Given the description of an element on the screen output the (x, y) to click on. 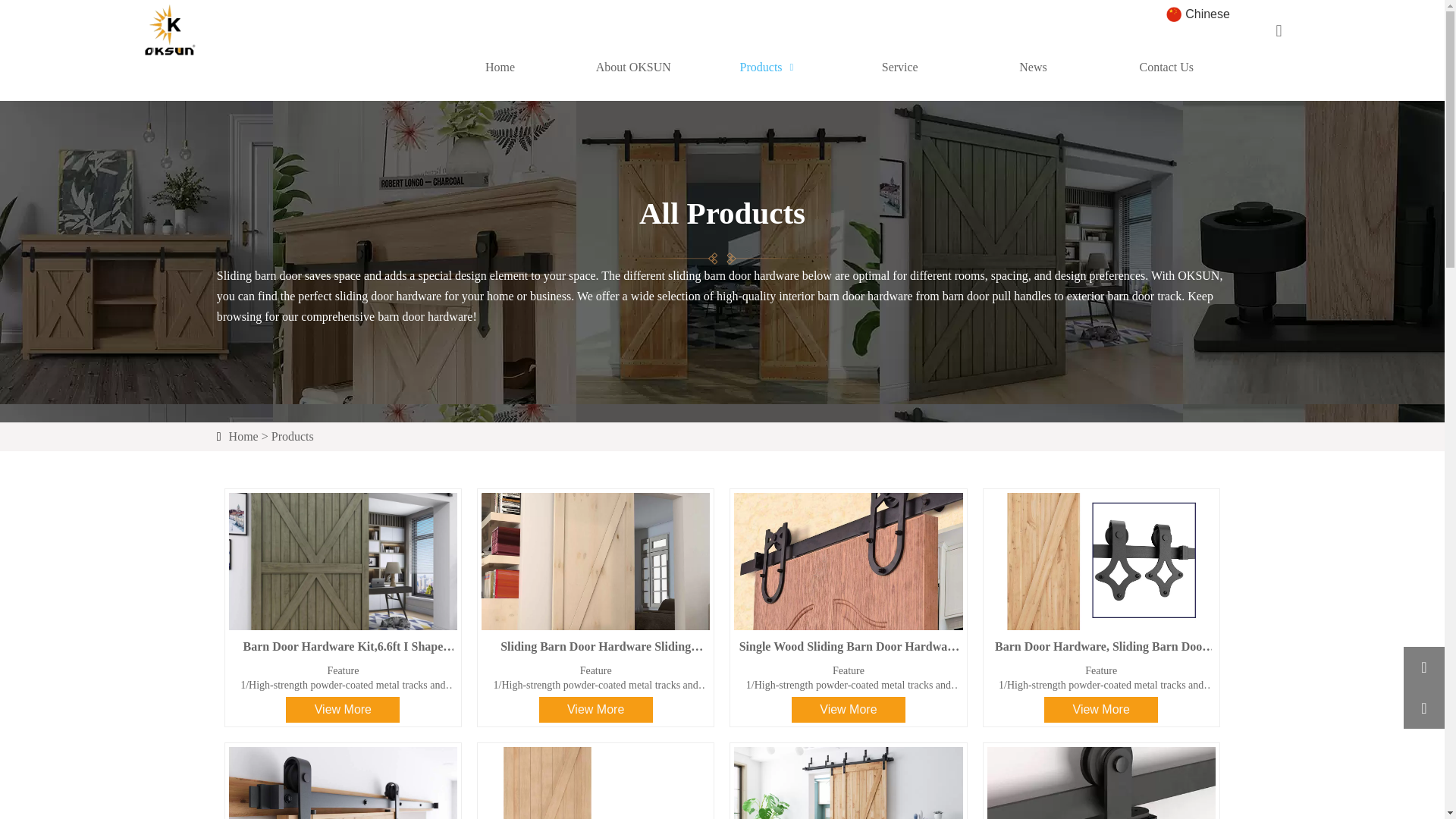
6.6ft Barn Door Hardware Kit OS-032 (595, 780)
Home (243, 436)
Chinese (1199, 14)
News (1032, 67)
About OKSUN (633, 67)
